Given the description of an element on the screen output the (x, y) to click on. 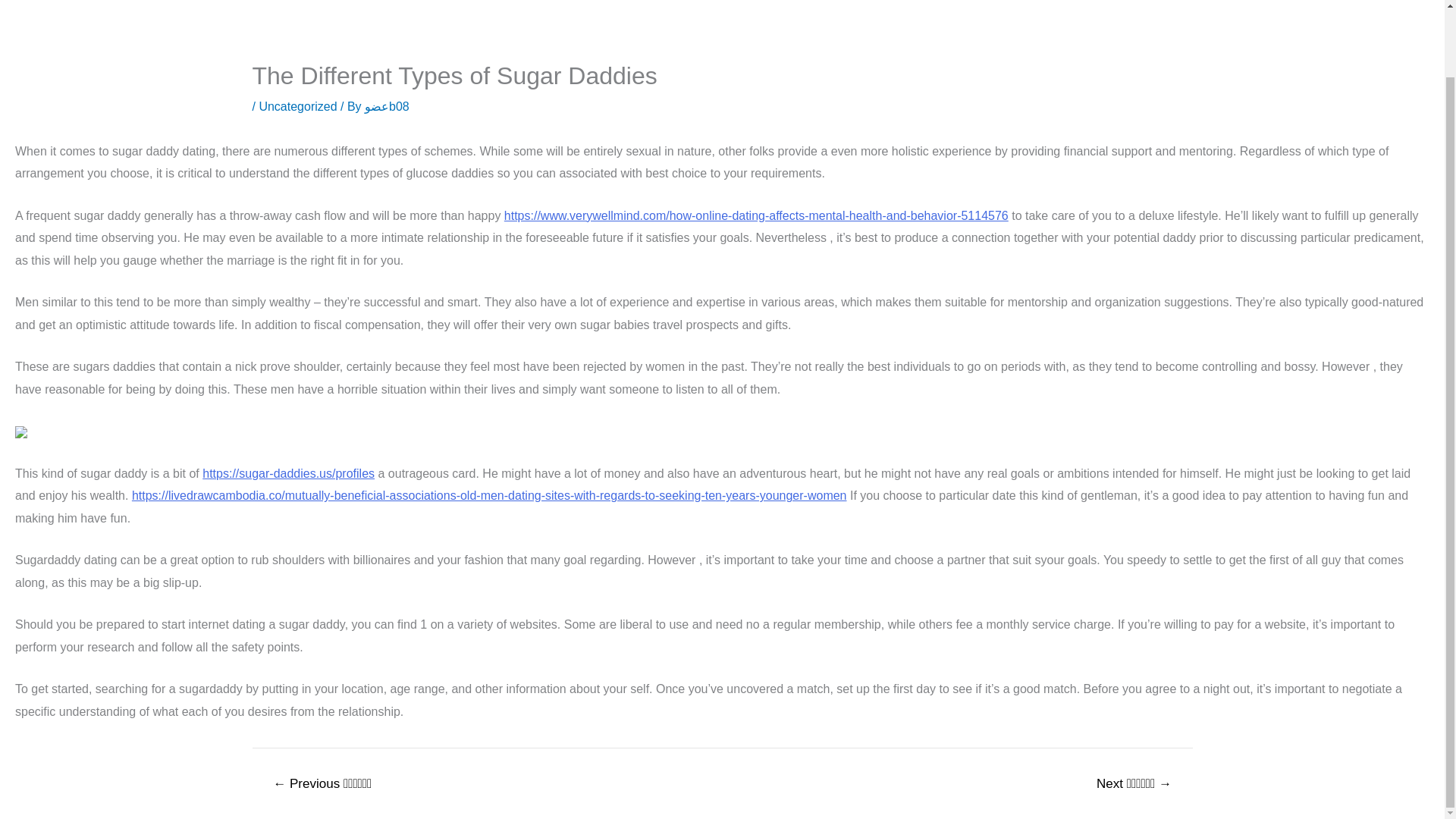
Uncategorized (297, 106)
